Given the description of an element on the screen output the (x, y) to click on. 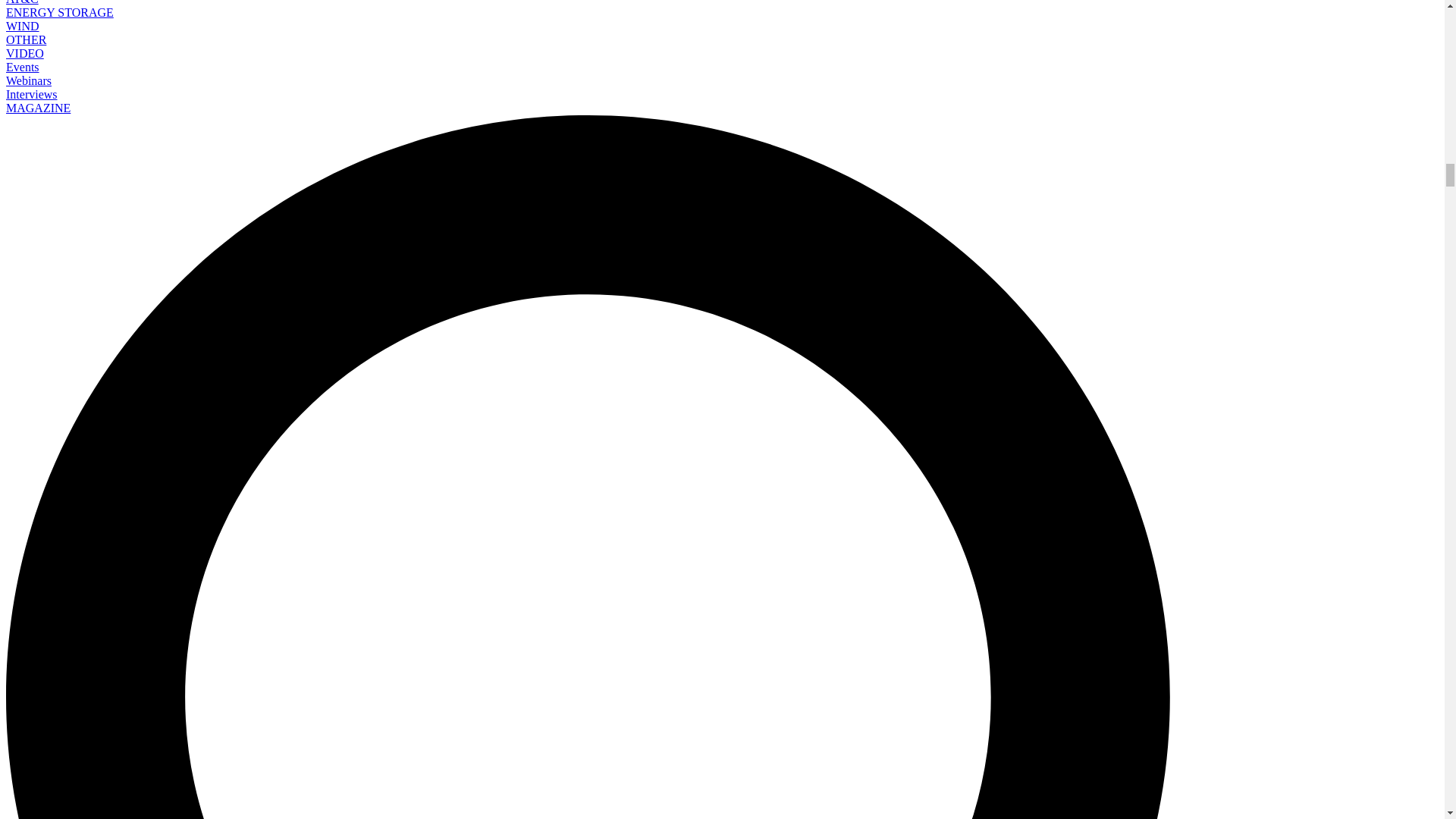
Events (22, 66)
Webinars (27, 80)
ENERGY STORAGE (59, 11)
OTHER (25, 39)
VIDEO (24, 52)
WIND (22, 25)
Interviews (31, 93)
